Given the description of an element on the screen output the (x, y) to click on. 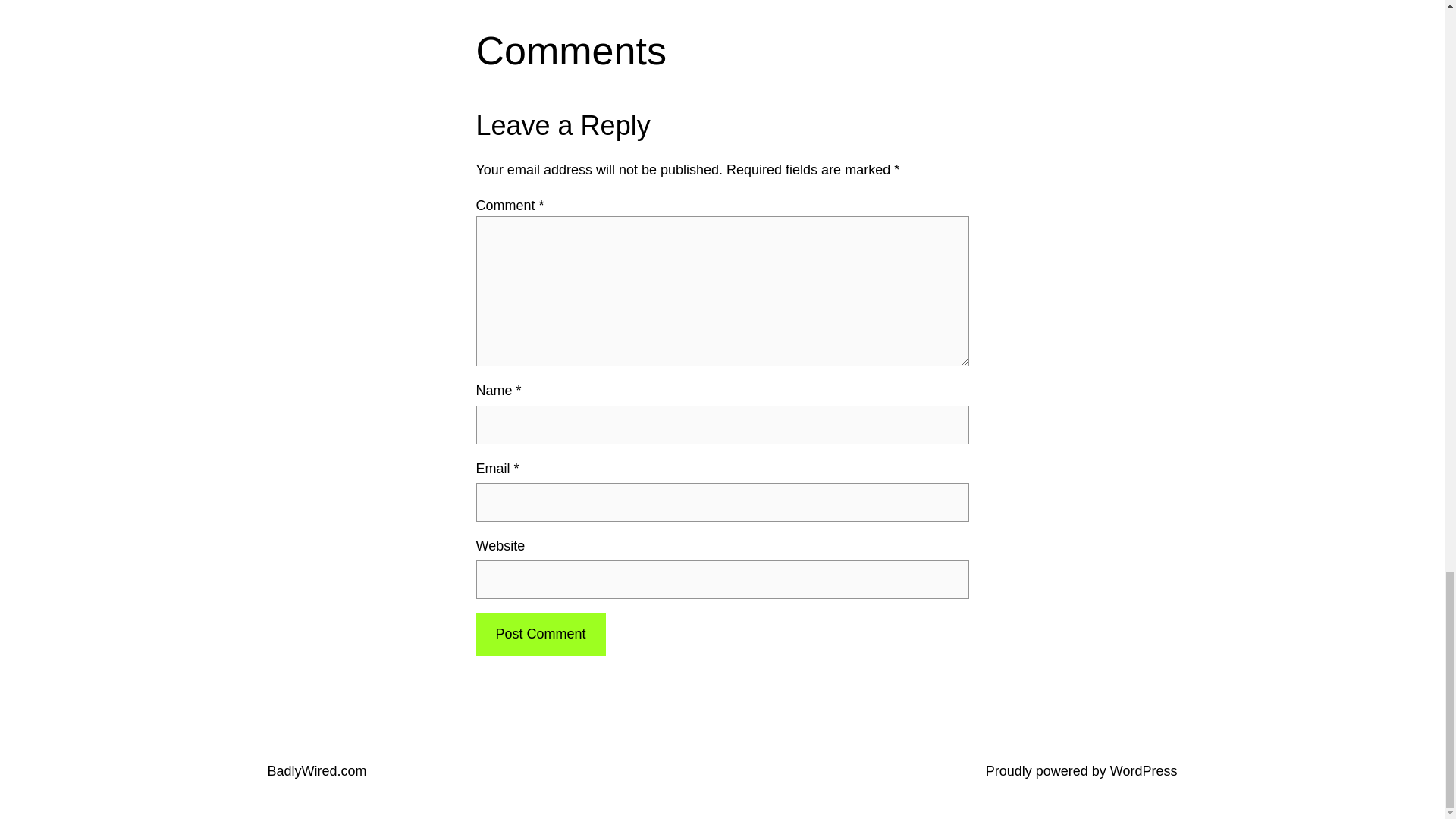
Post Comment (540, 634)
Post Comment (540, 634)
BadlyWired.com (316, 770)
WordPress (1143, 770)
